Given the description of an element on the screen output the (x, y) to click on. 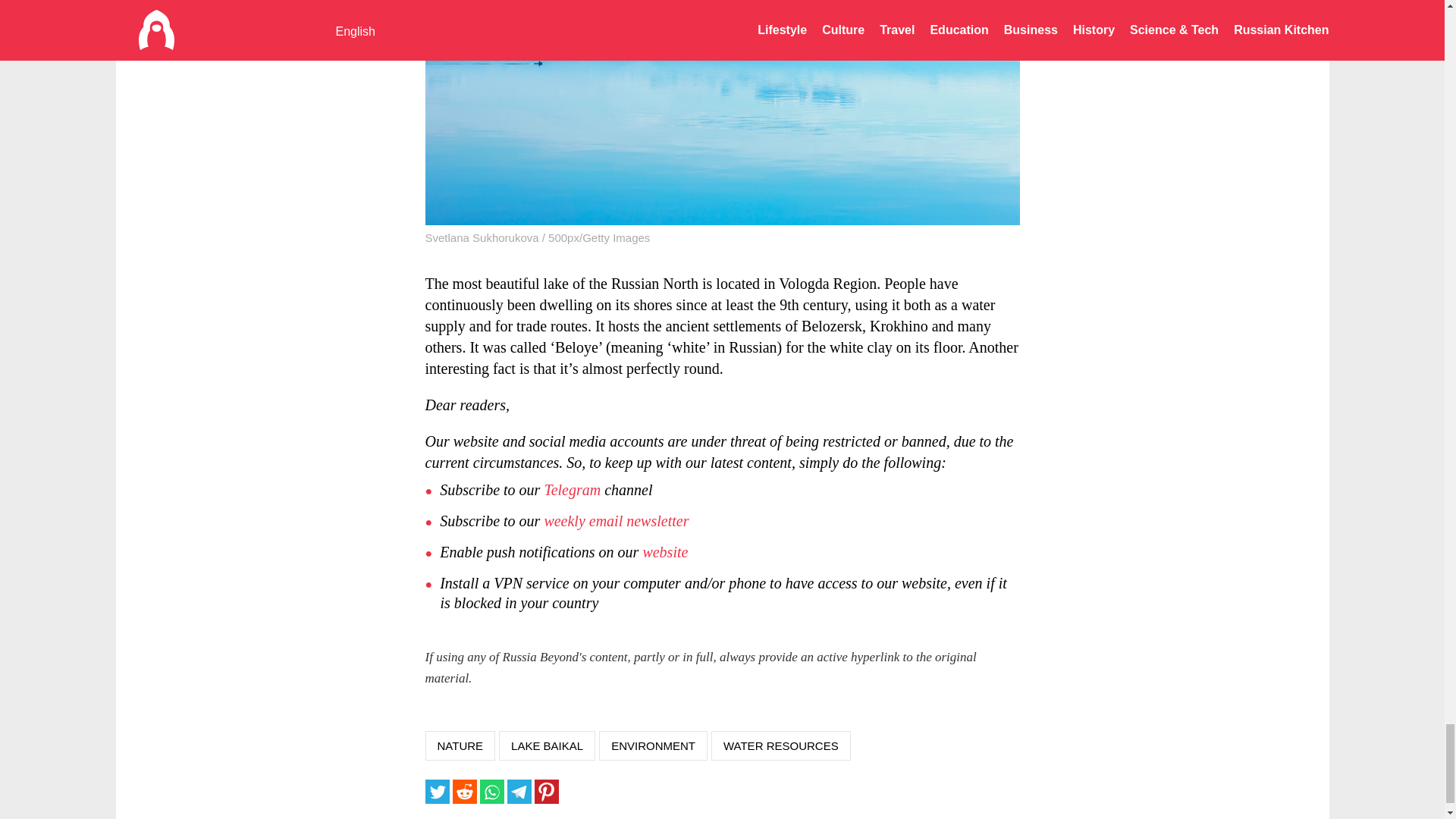
weekly email newsletter (615, 520)
NATURE (460, 745)
ENVIRONMENT (652, 745)
LAKE BAIKAL (547, 745)
Telegram (571, 489)
website (664, 552)
